Given the description of an element on the screen output the (x, y) to click on. 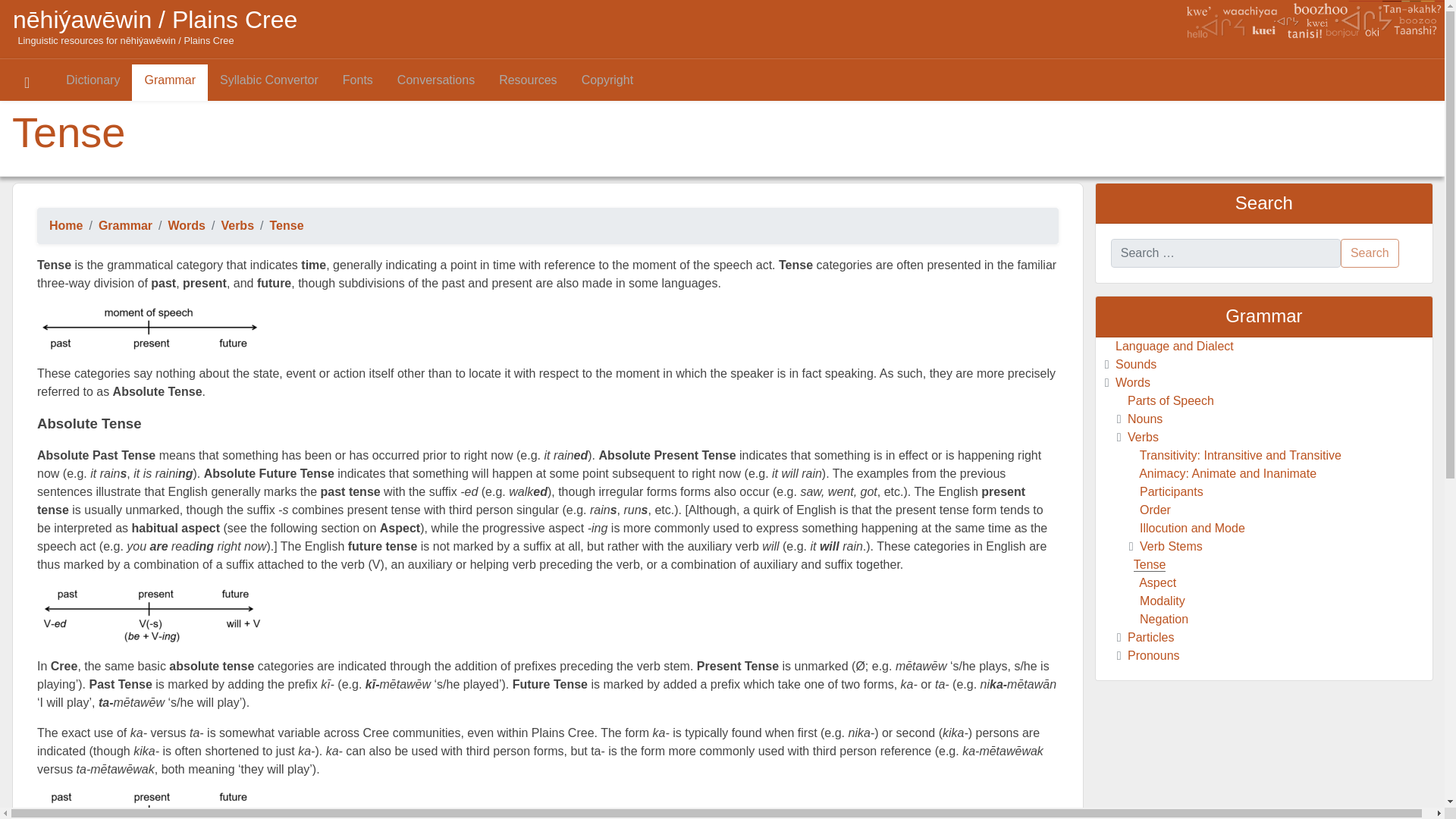
Words (186, 225)
Tense (286, 225)
Syllabic Convertor (269, 82)
Conversations (435, 82)
Copyright (607, 82)
Search (1369, 253)
Search (1369, 253)
Dictionary (92, 82)
Home (65, 225)
Verbs (237, 225)
